Given the description of an element on the screen output the (x, y) to click on. 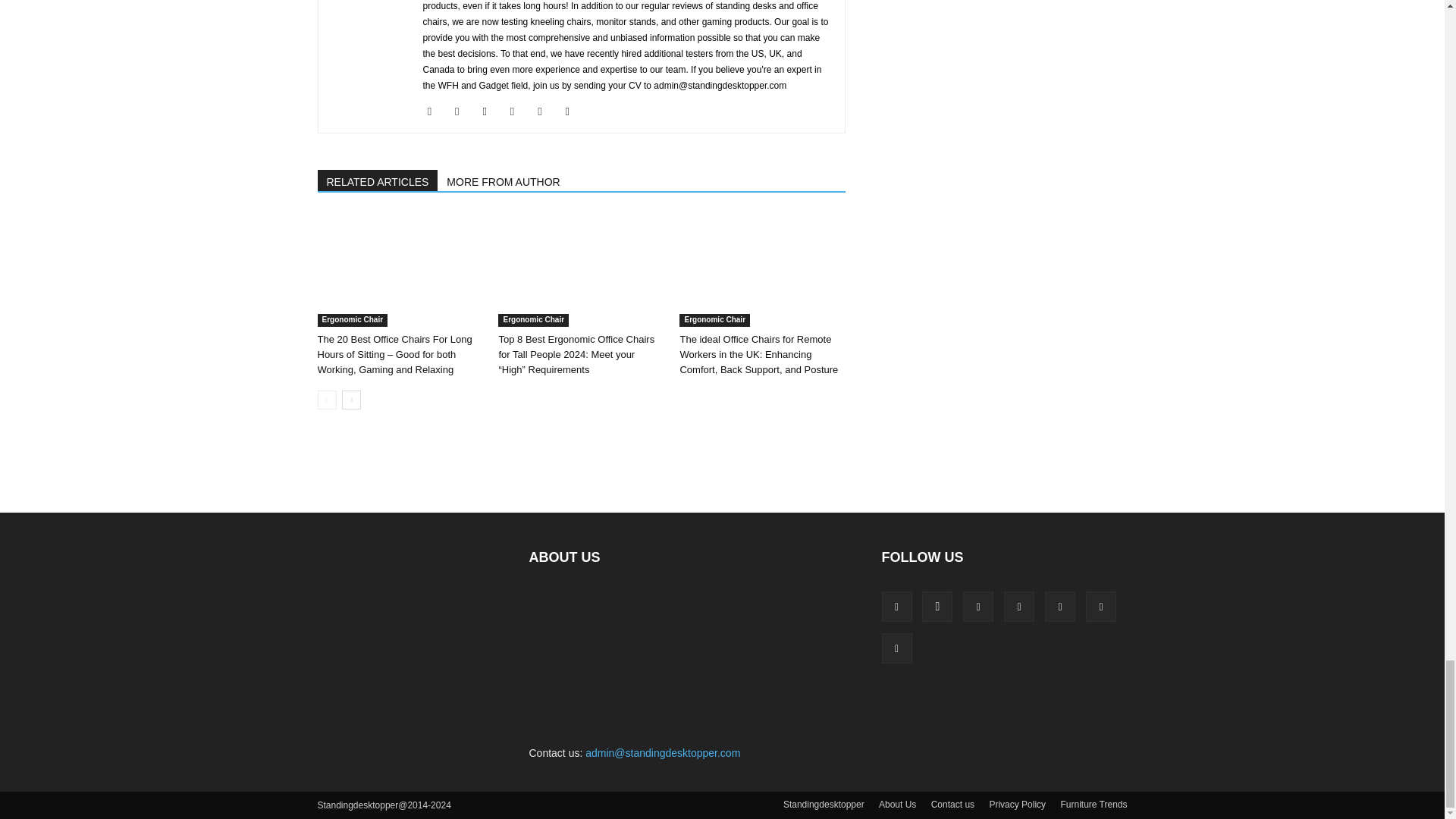
Instagram (462, 111)
Reddit (544, 111)
Facebook (435, 111)
Mail (489, 111)
Pinterest (518, 111)
